Given the description of an element on the screen output the (x, y) to click on. 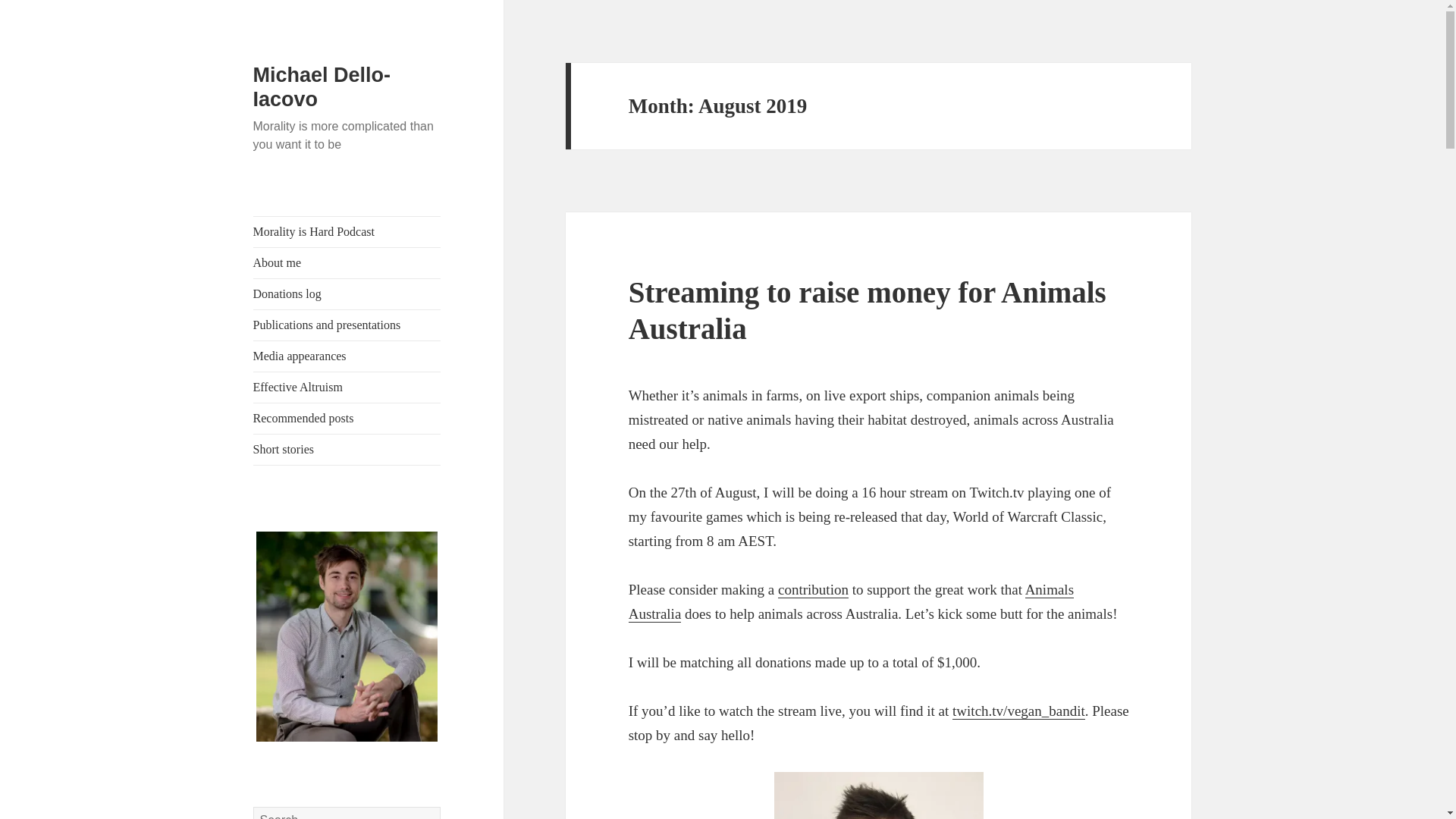
Michael Dello-Iacovo (322, 86)
Recommended posts (347, 418)
Media appearances (347, 356)
Effective Altruism (347, 387)
Short stories (347, 449)
Publications and presentations (347, 325)
Donations log (347, 294)
